Given the description of an element on the screen output the (x, y) to click on. 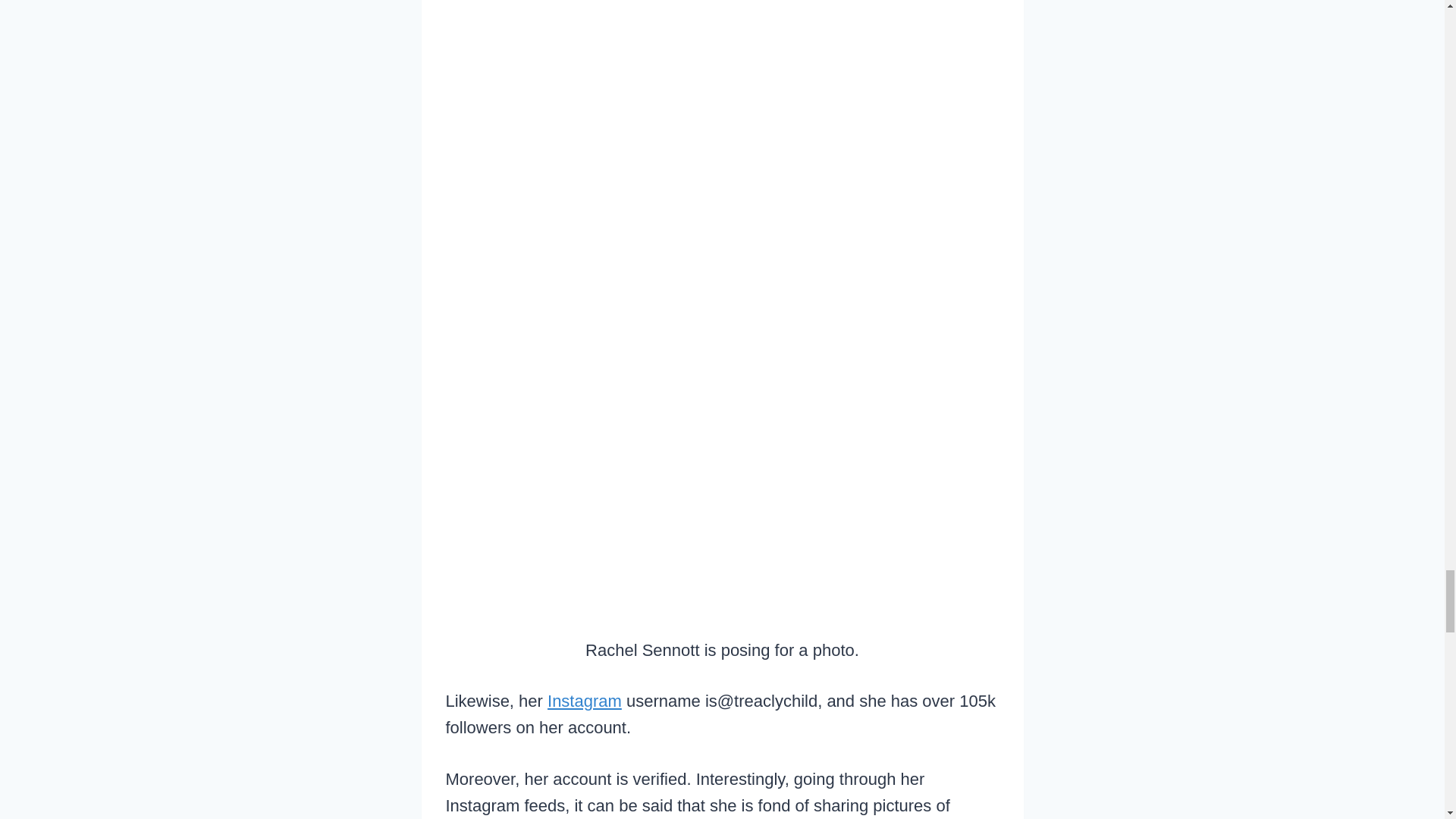
Instagram (584, 700)
